Given the description of an element on the screen output the (x, y) to click on. 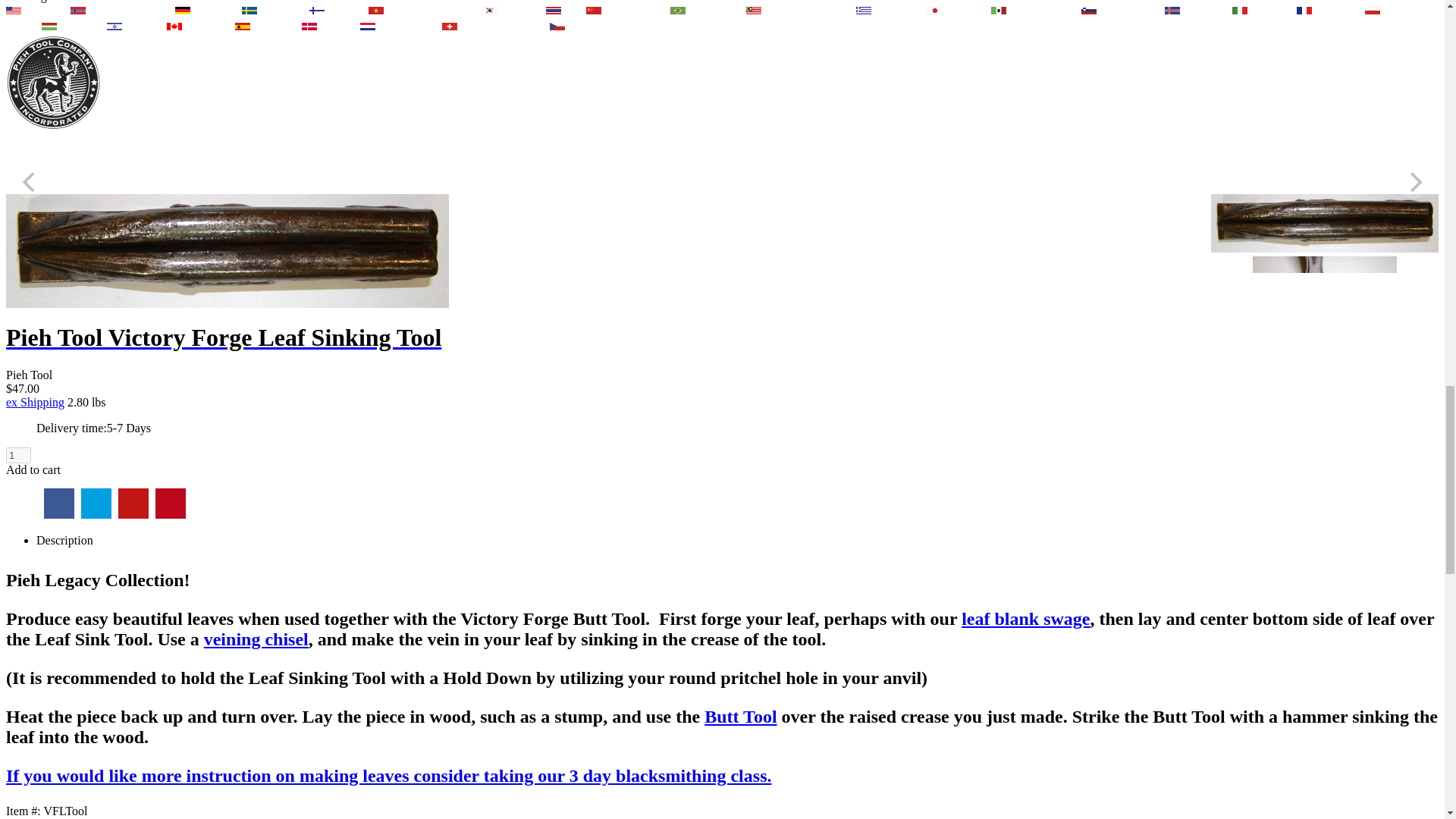
 Bahasa Malaysia  (799, 10)
 Nederlands  (399, 25)
English (13, 10)
 Deutsch  (473, 25)
 Srpski  (528, 25)
 Italiano  (1262, 10)
 Deutsch  (206, 10)
1 (17, 455)
Suomi (316, 10)
 Suomi  (336, 10)
Svenska (249, 10)
 English  (35, 10)
Deutsch (182, 10)
 Magyar  (72, 25)
 Dansk  (328, 25)
